Given the description of an element on the screen output the (x, y) to click on. 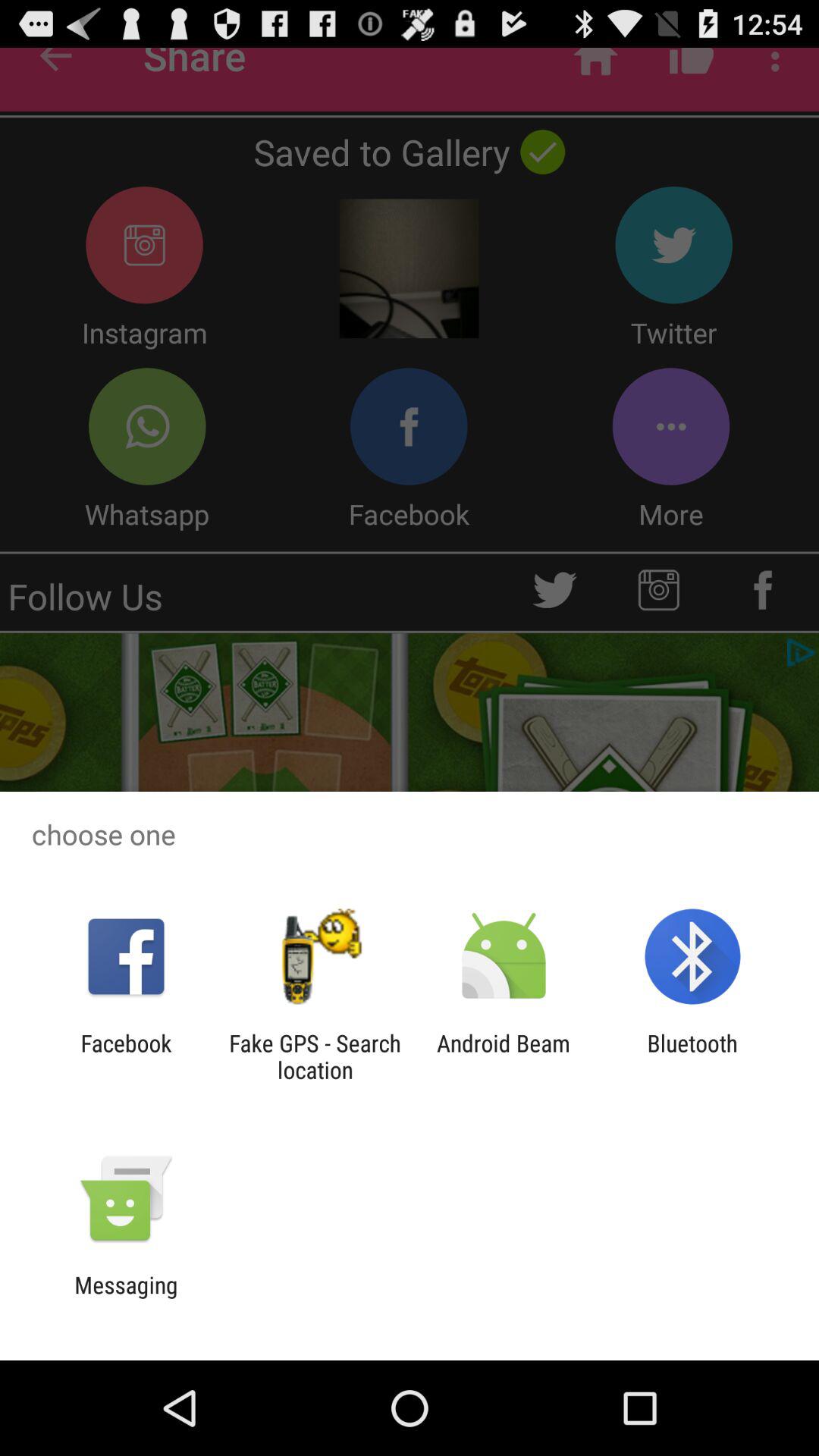
turn on the bluetooth item (692, 1056)
